Given the description of an element on the screen output the (x, y) to click on. 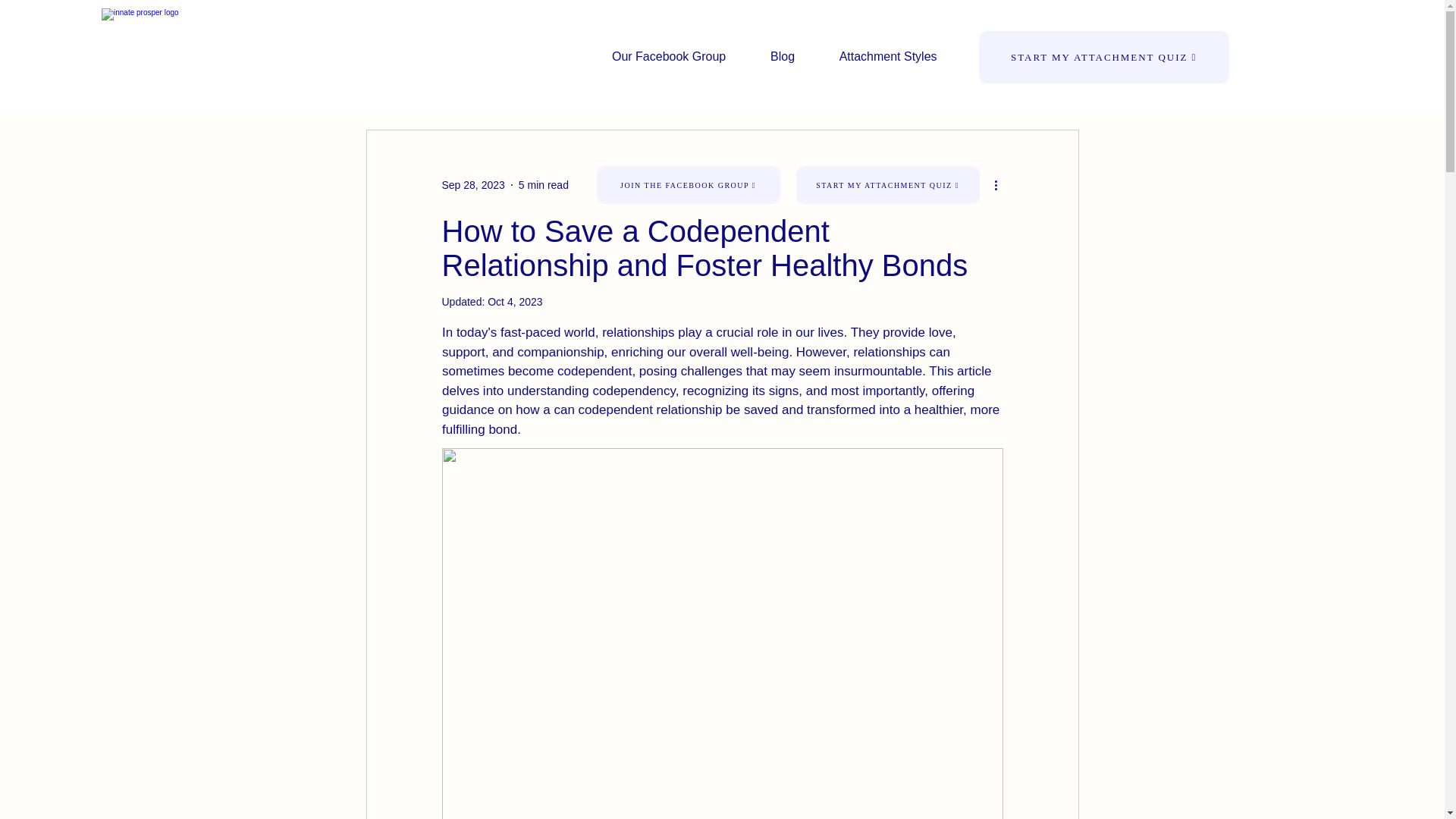
5 min read (543, 184)
Sep 28, 2023 (472, 184)
Blog (782, 56)
Oct 4, 2023 (514, 301)
Our Facebook Group (668, 56)
